Given the description of an element on the screen output the (x, y) to click on. 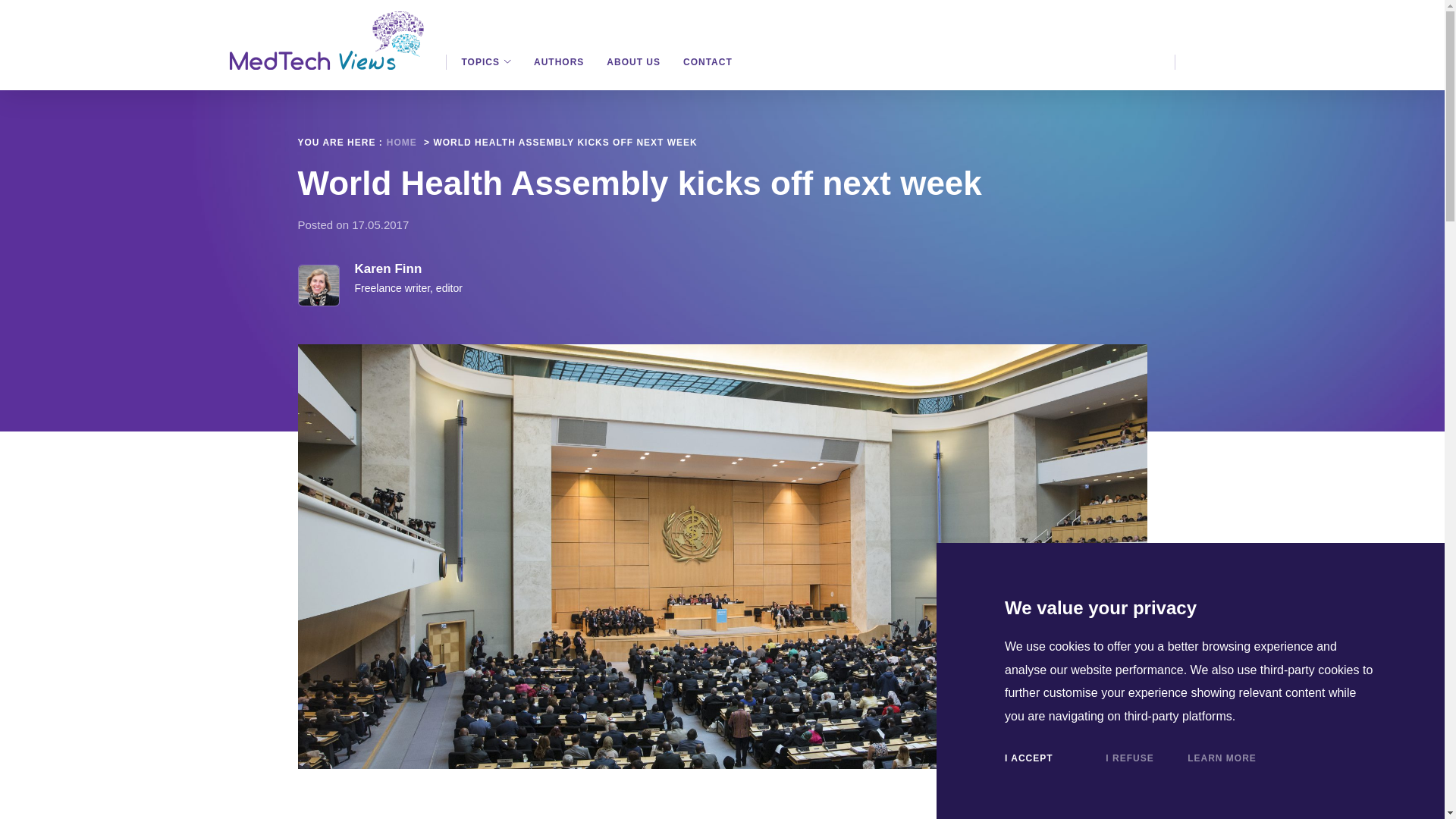
ABOUT US (634, 61)
Karen Finn (388, 268)
0 comments (1094, 27)
HOME (401, 142)
CONTACT (707, 61)
0 comments (1094, 27)
TOPICS (486, 61)
AUTHORS (558, 61)
